Given the description of an element on the screen output the (x, y) to click on. 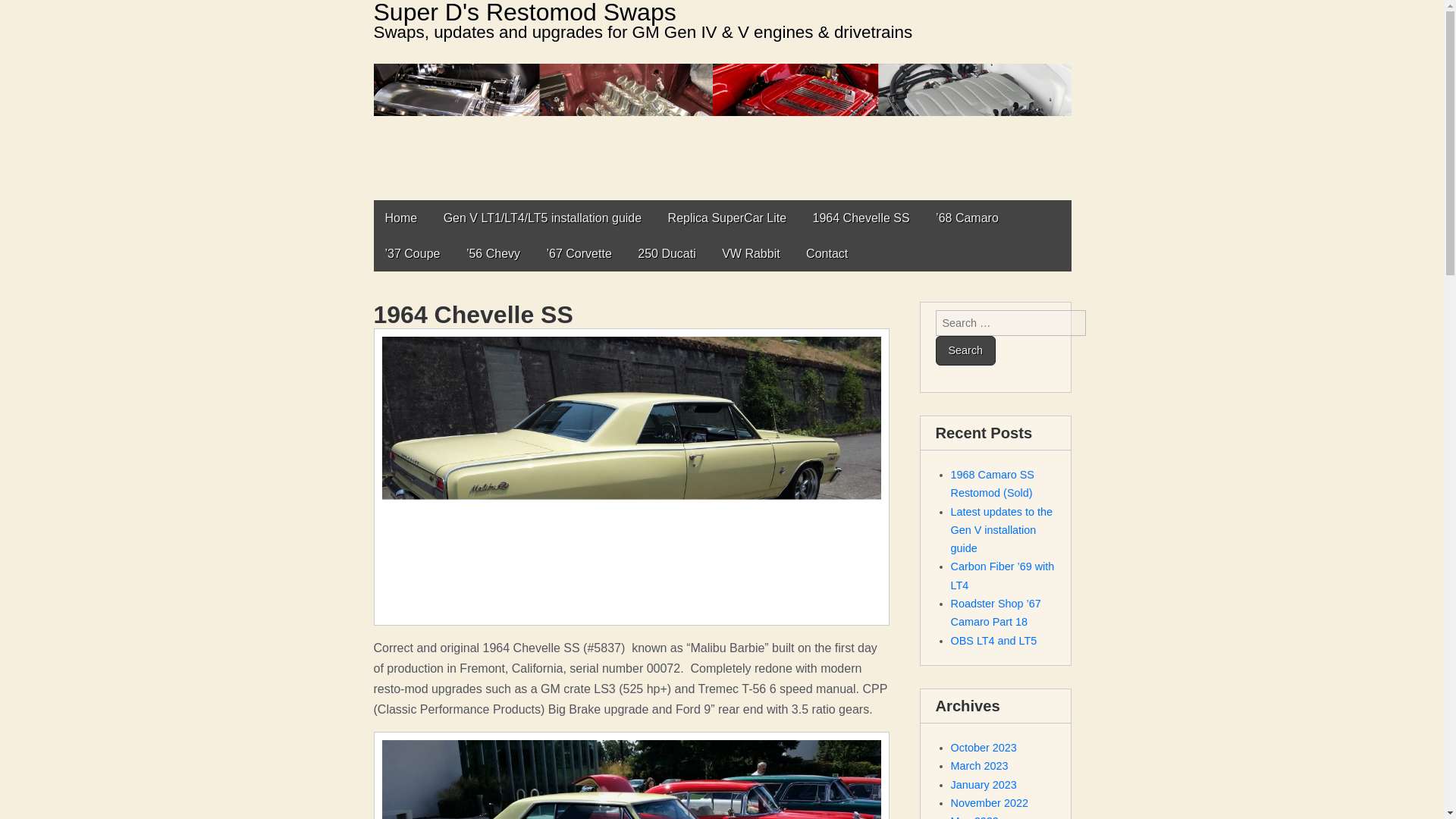
Search (965, 350)
Latest updates to the Gen V installation guide (1001, 530)
Contact (826, 253)
Super D's Restomod Swaps (523, 12)
Replica SuperCar Lite (726, 217)
Home (400, 217)
Search (965, 350)
Search (965, 350)
